Given the description of an element on the screen output the (x, y) to click on. 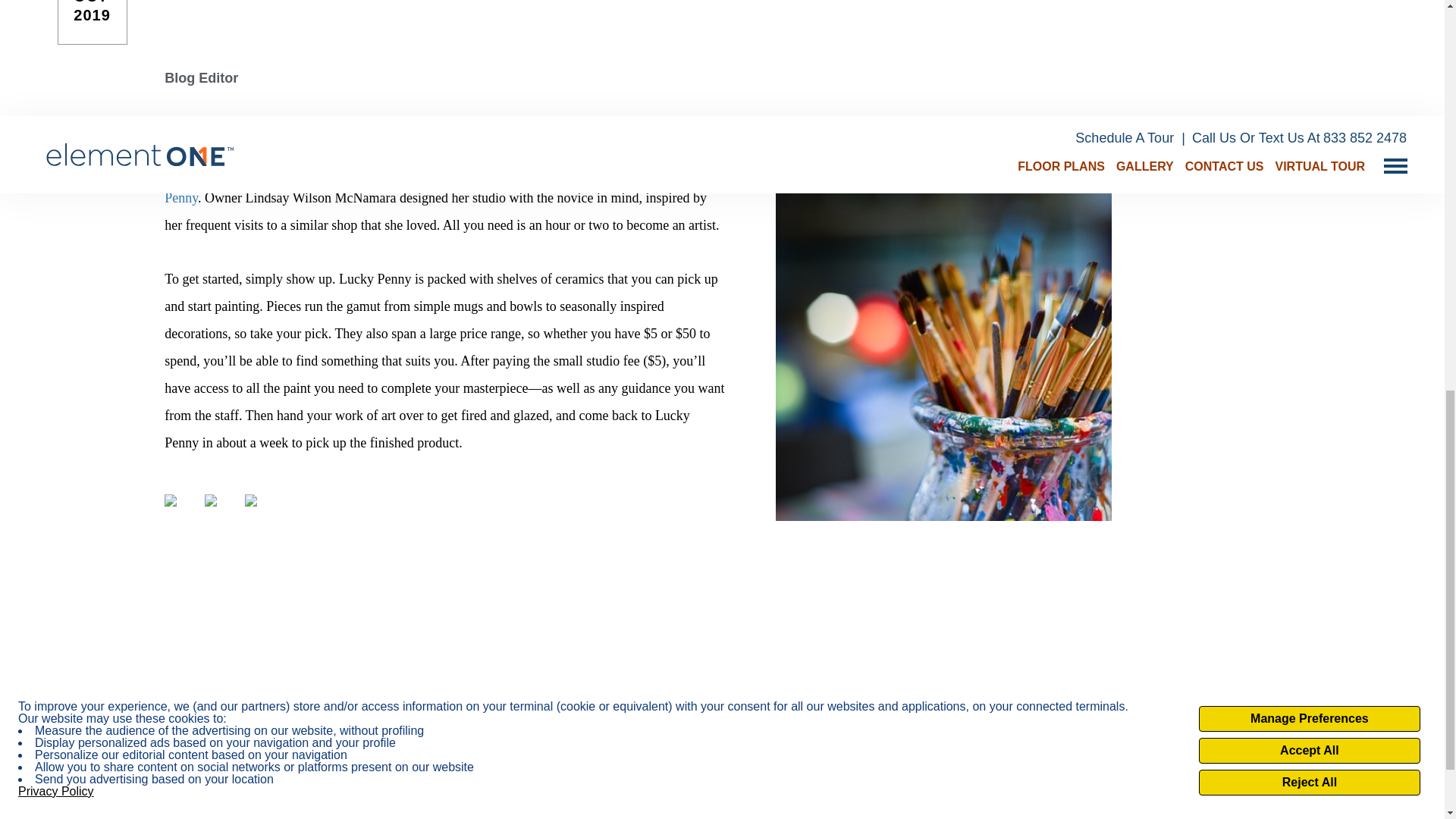
Lucky Penny (432, 183)
